Given the description of an element on the screen output the (x, y) to click on. 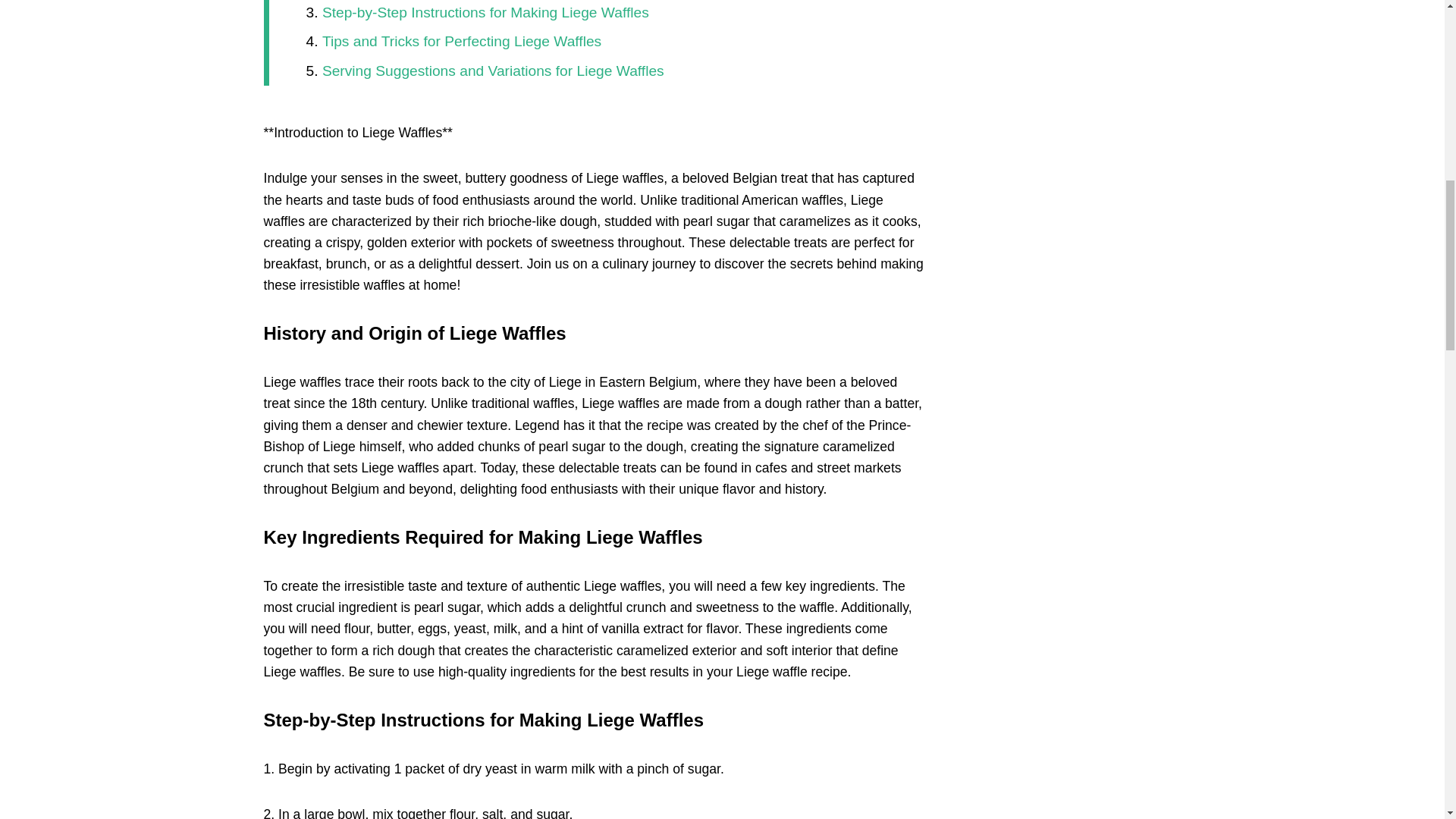
Step-by-Step Instructions for Making Liege Waffles (485, 12)
Tips and Tricks for Perfecting Liege Waffles (461, 41)
Serving Suggestions and Variations for Liege Waffles (492, 70)
